Given the description of an element on the screen output the (x, y) to click on. 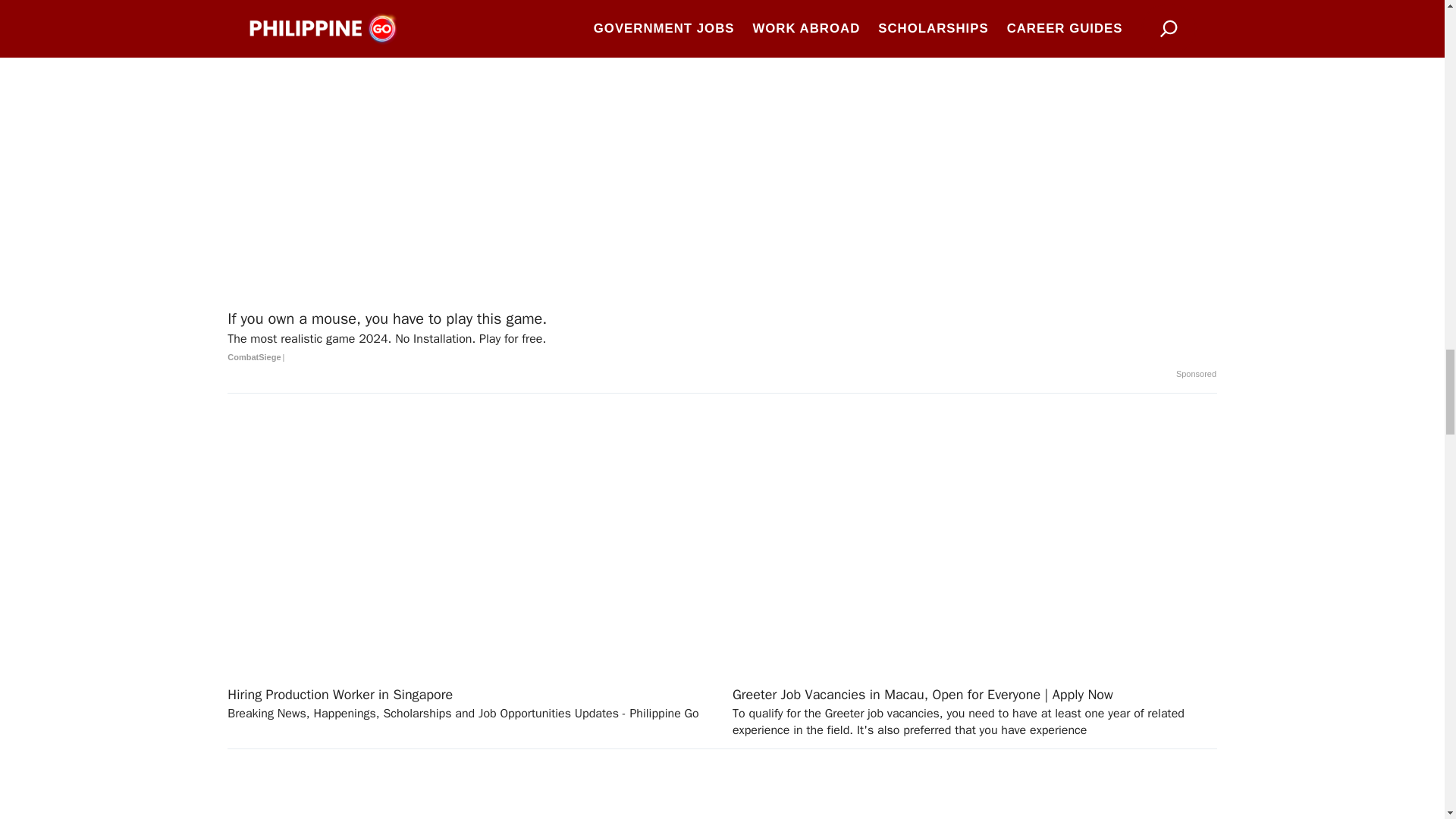
Sponsored (1195, 374)
If you own a mouse, you have to play this game. (722, 337)
